Given the description of an element on the screen output the (x, y) to click on. 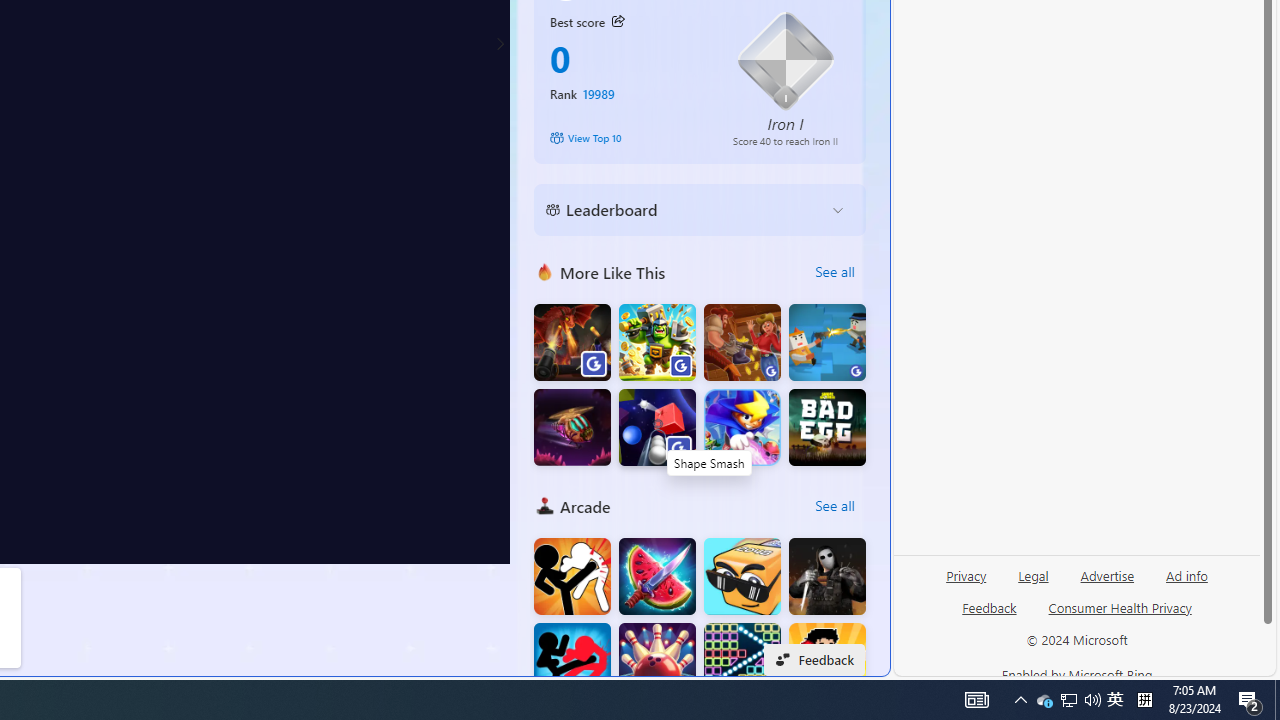
Leaderboard (683, 209)
More Like This (544, 271)
View Top 10 (628, 138)
Class: control (499, 43)
Dragon Annihilation (571, 342)
Hunter Hitman (827, 576)
